Given the description of an element on the screen output the (x, y) to click on. 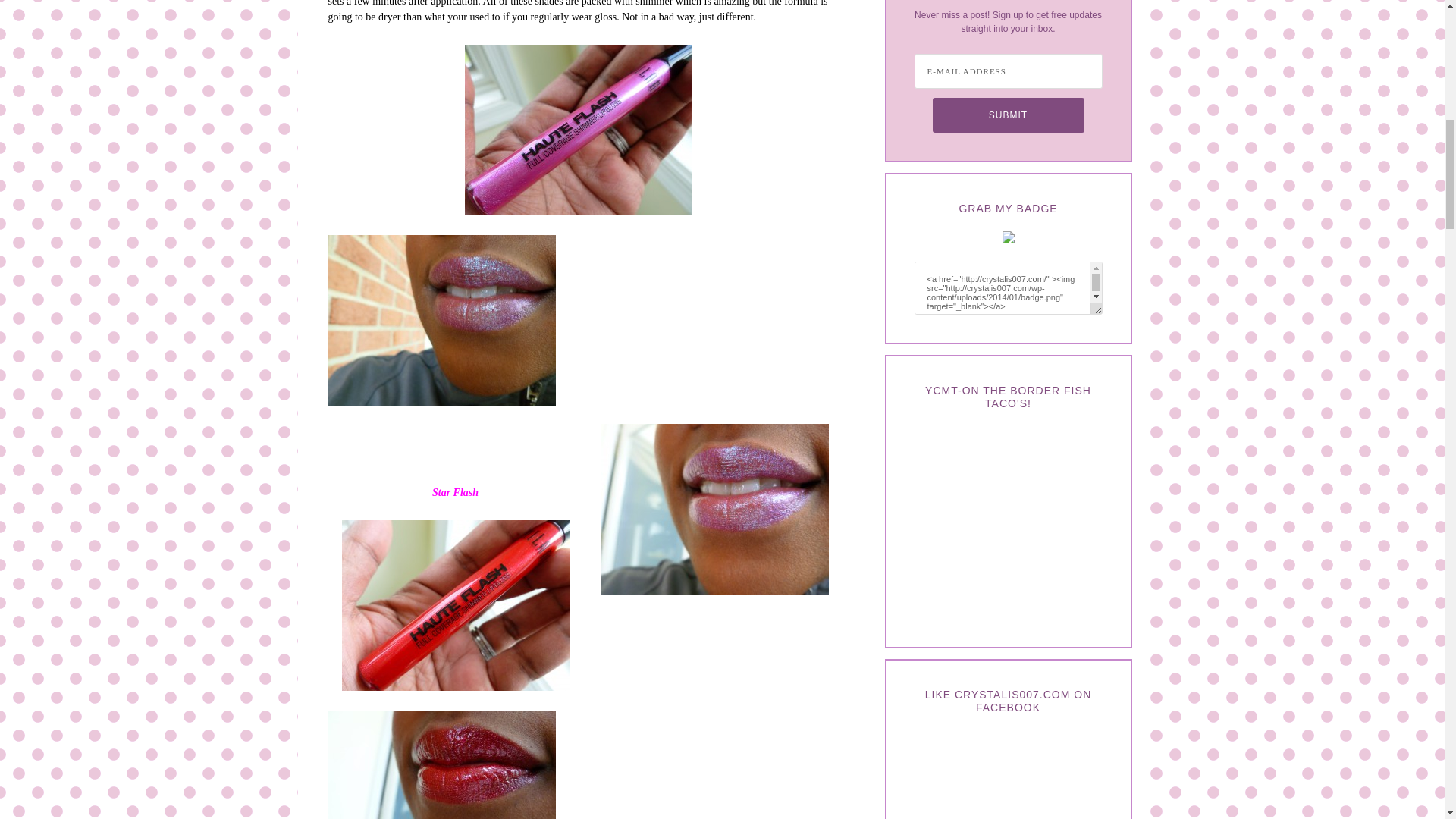
milani hot flash haute flash (454, 605)
milani star flash  (713, 509)
milani star flash haute flash gloss (577, 130)
milani hot flash  (440, 764)
milani star flash haute flash gloss (440, 320)
E-Mail Address (1008, 71)
Submit (1008, 114)
